Given the description of an element on the screen output the (x, y) to click on. 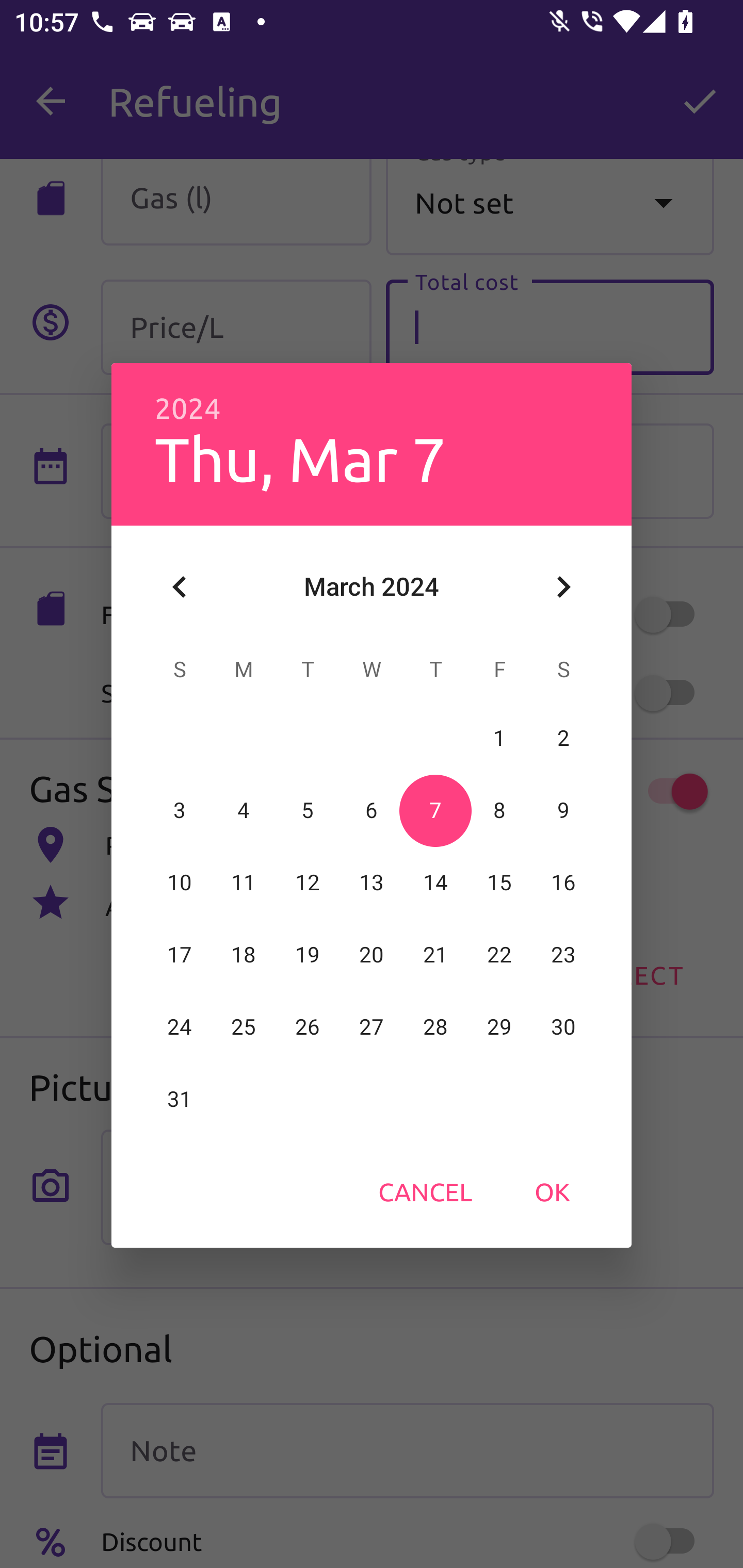
2024 (187, 408)
Thu, Mar 7 (300, 458)
Previous month (178, 587)
Next month (563, 587)
1 01 March 2024 (499, 738)
2 02 March 2024 (563, 738)
3 03 March 2024 (179, 810)
4 04 March 2024 (243, 810)
5 05 March 2024 (307, 810)
6 06 March 2024 (371, 810)
7 07 March 2024 (435, 810)
8 08 March 2024 (499, 810)
9 09 March 2024 (563, 810)
10 10 March 2024 (179, 882)
11 11 March 2024 (243, 882)
12 12 March 2024 (307, 882)
13 13 March 2024 (371, 882)
14 14 March 2024 (435, 882)
15 15 March 2024 (499, 882)
16 16 March 2024 (563, 882)
17 17 March 2024 (179, 954)
18 18 March 2024 (243, 954)
19 19 March 2024 (307, 954)
20 20 March 2024 (371, 954)
21 21 March 2024 (435, 954)
22 22 March 2024 (499, 954)
23 23 March 2024 (563, 954)
24 24 March 2024 (179, 1026)
25 25 March 2024 (243, 1026)
26 26 March 2024 (307, 1026)
27 27 March 2024 (371, 1026)
28 28 March 2024 (435, 1026)
29 29 March 2024 (499, 1026)
30 30 March 2024 (563, 1026)
31 31 March 2024 (179, 1099)
CANCEL (425, 1191)
OK (552, 1191)
